Given the description of an element on the screen output the (x, y) to click on. 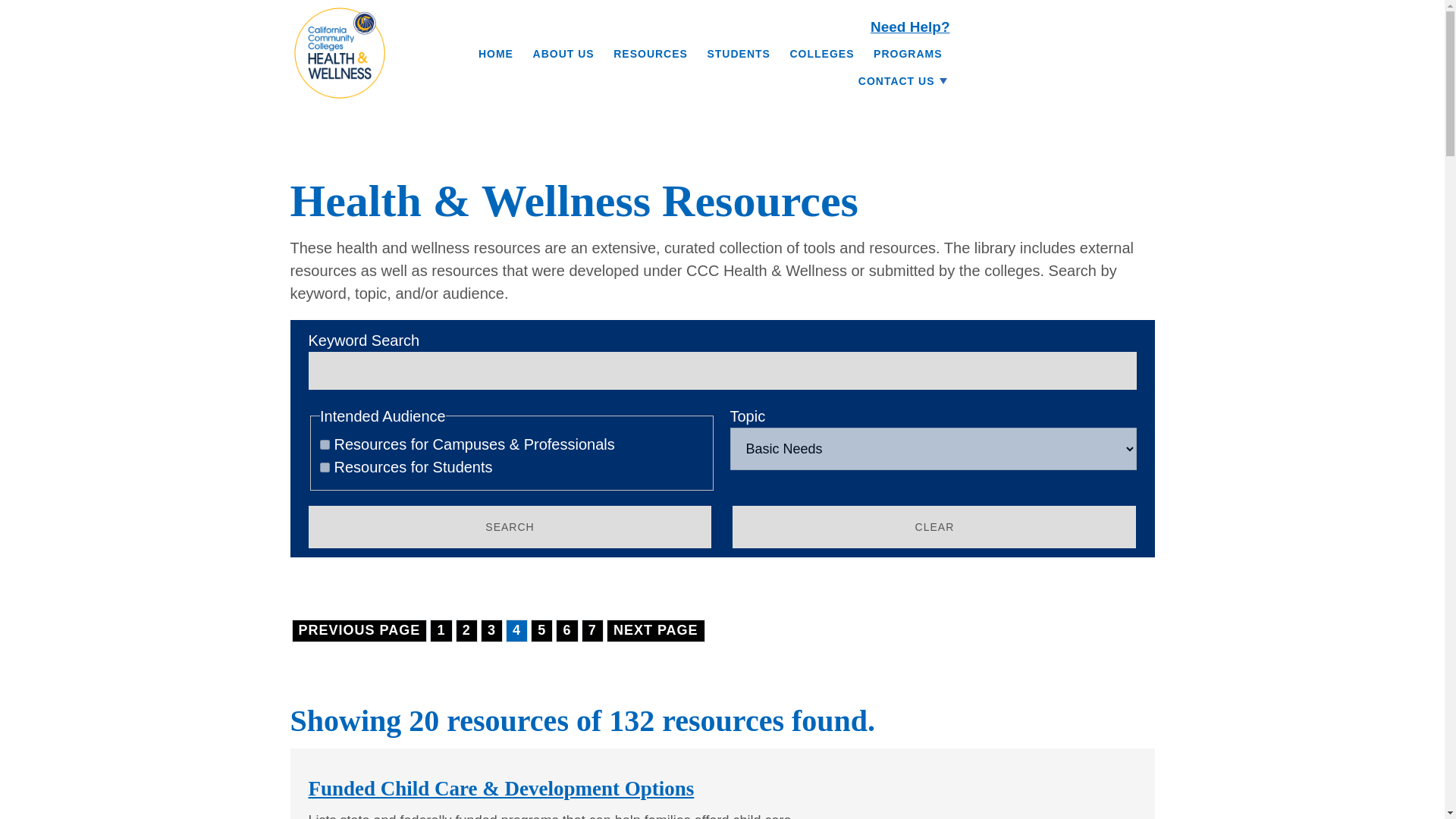
STUDENTS (737, 48)
for-campuses-professionals (325, 444)
PROGRAMS (907, 48)
1 (440, 630)
2 (466, 630)
PREVIOUS PAGE (358, 630)
Clear (933, 526)
Search (509, 526)
HOME (495, 48)
for-students (325, 467)
